Given the description of an element on the screen output the (x, y) to click on. 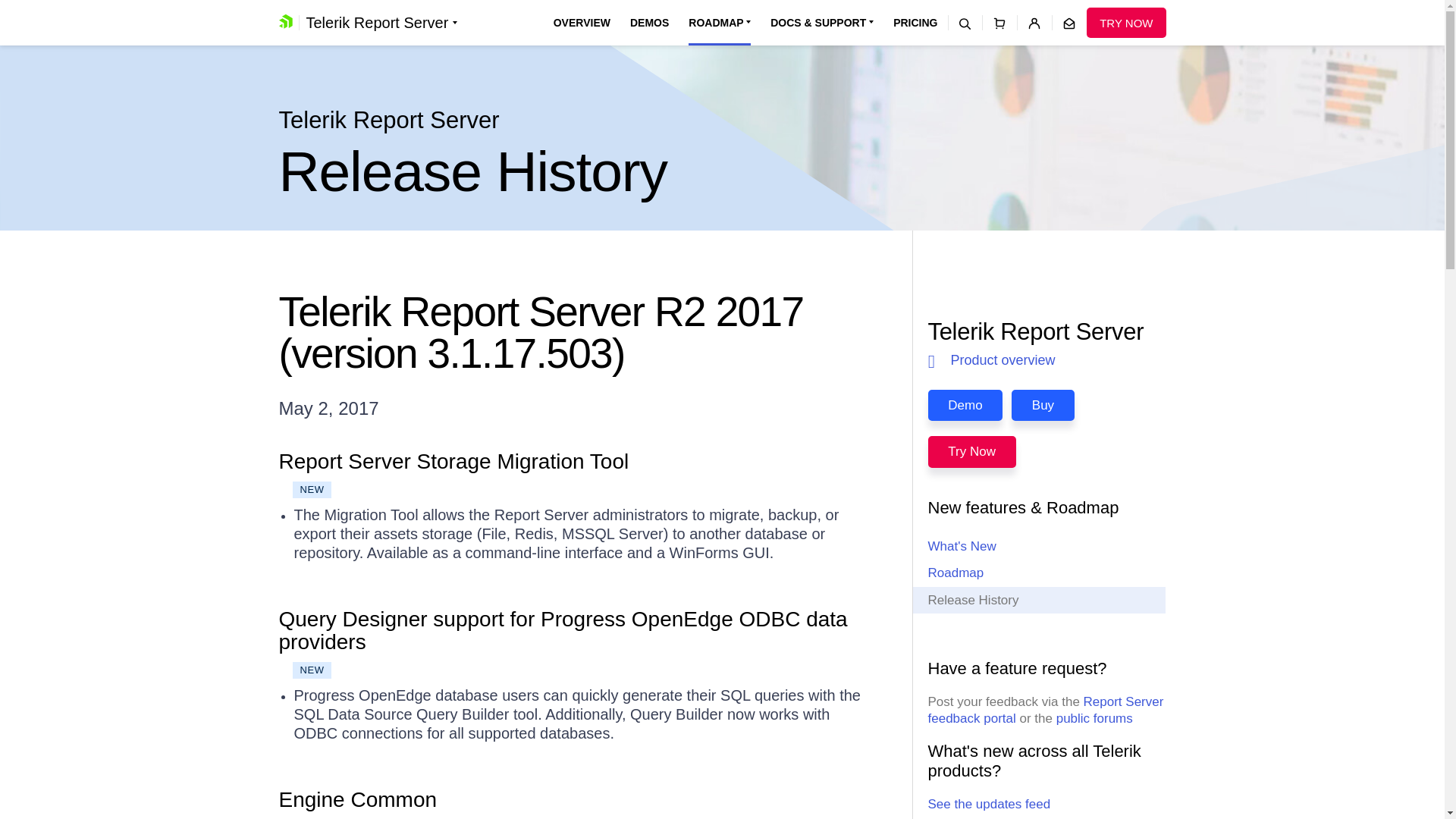
SKIP NAVIGATION (339, 7)
ROADMAP (719, 22)
Telerik Report Server (381, 22)
OVERVIEW (581, 22)
